Given the description of an element on the screen output the (x, y) to click on. 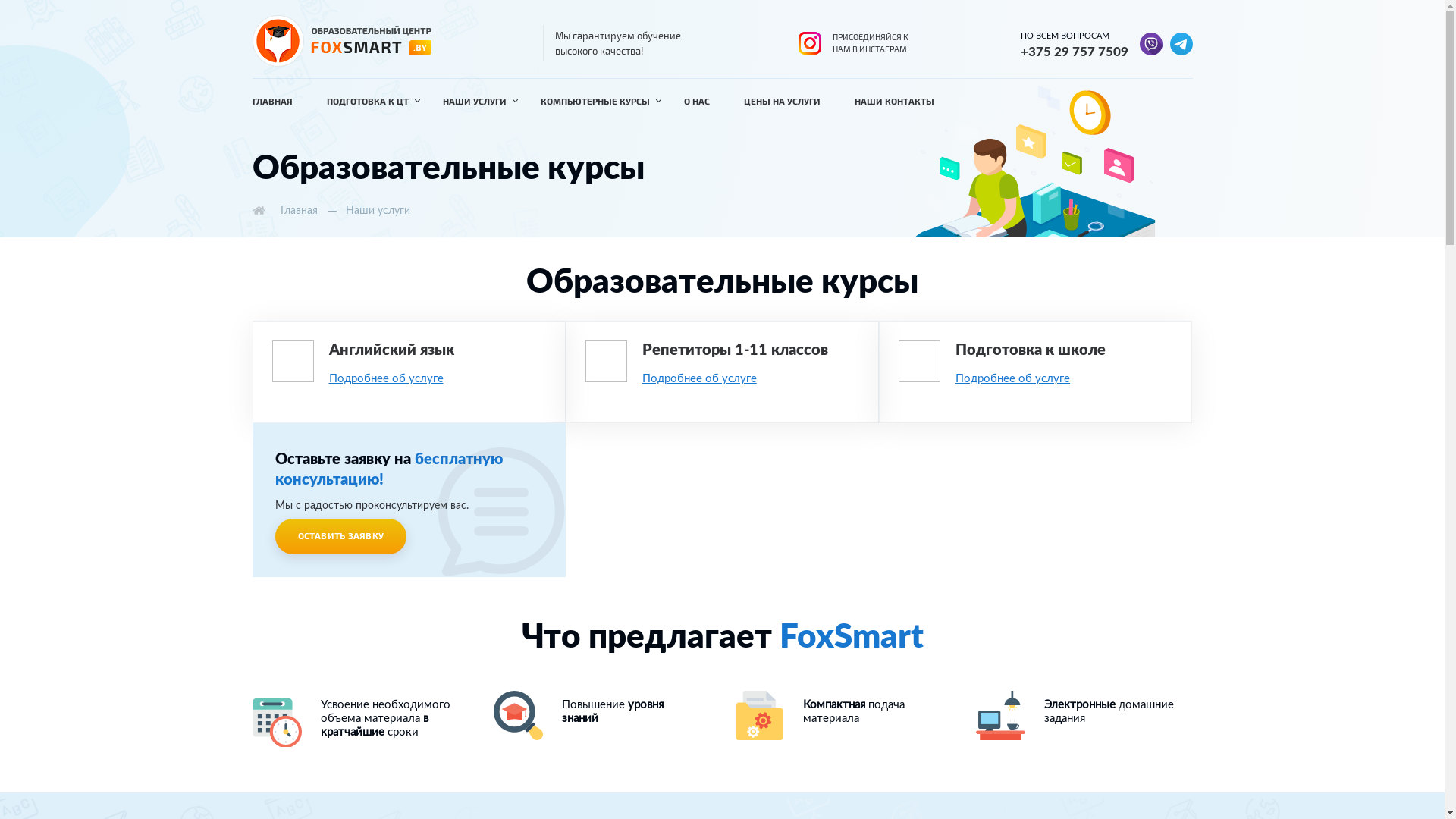
INSTAGRAM Element type: text (808, 42)
TELEGRAM Element type: text (1180, 42)
+375 29 757 7509 Element type: text (1079, 51)
VIBER Element type: text (1150, 42)
